Given the description of an element on the screen output the (x, y) to click on. 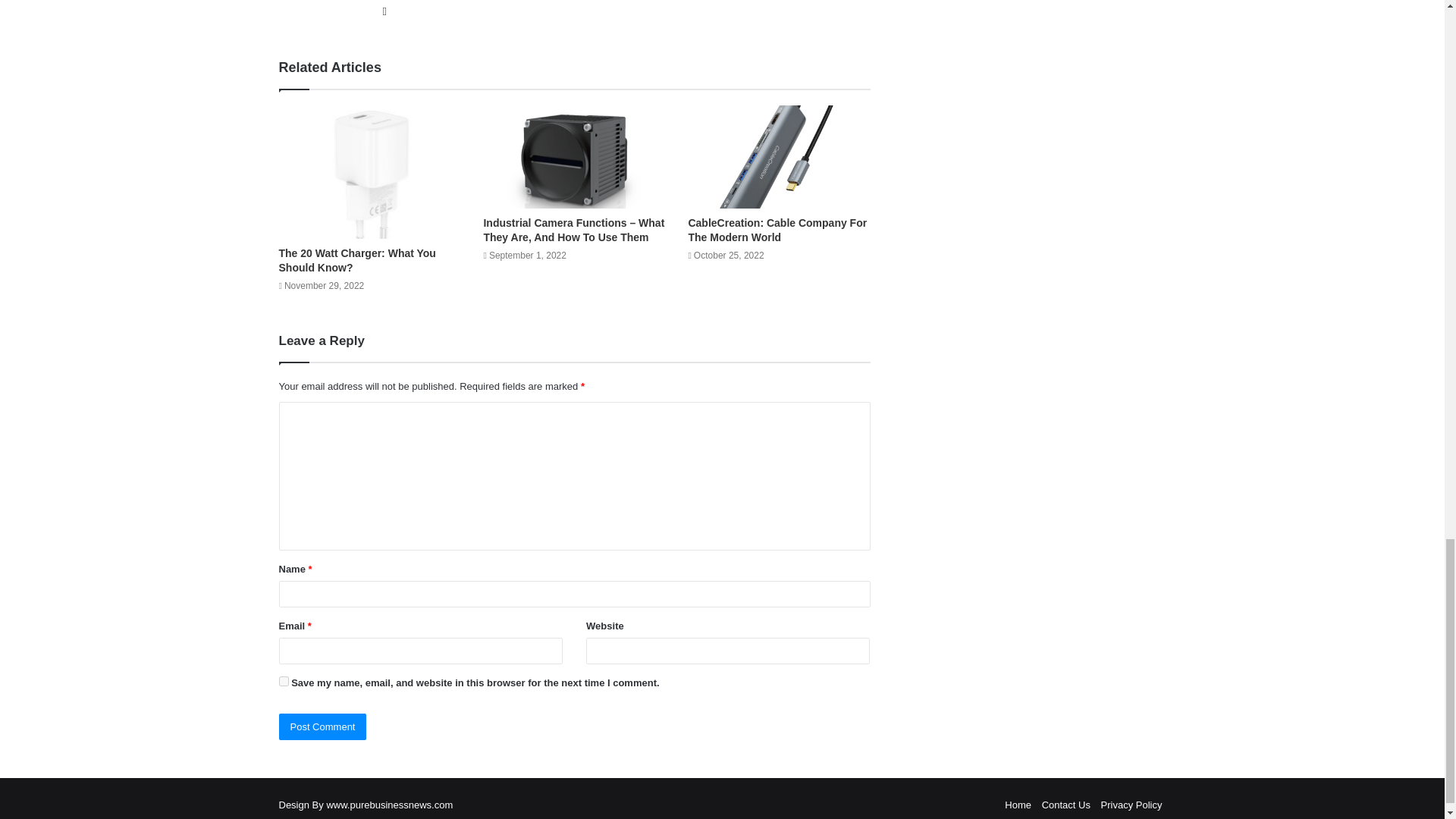
The 20 Watt Charger: What You Should Know? (357, 260)
Post Comment (322, 726)
Website (384, 11)
yes (283, 681)
